Given the description of an element on the screen output the (x, y) to click on. 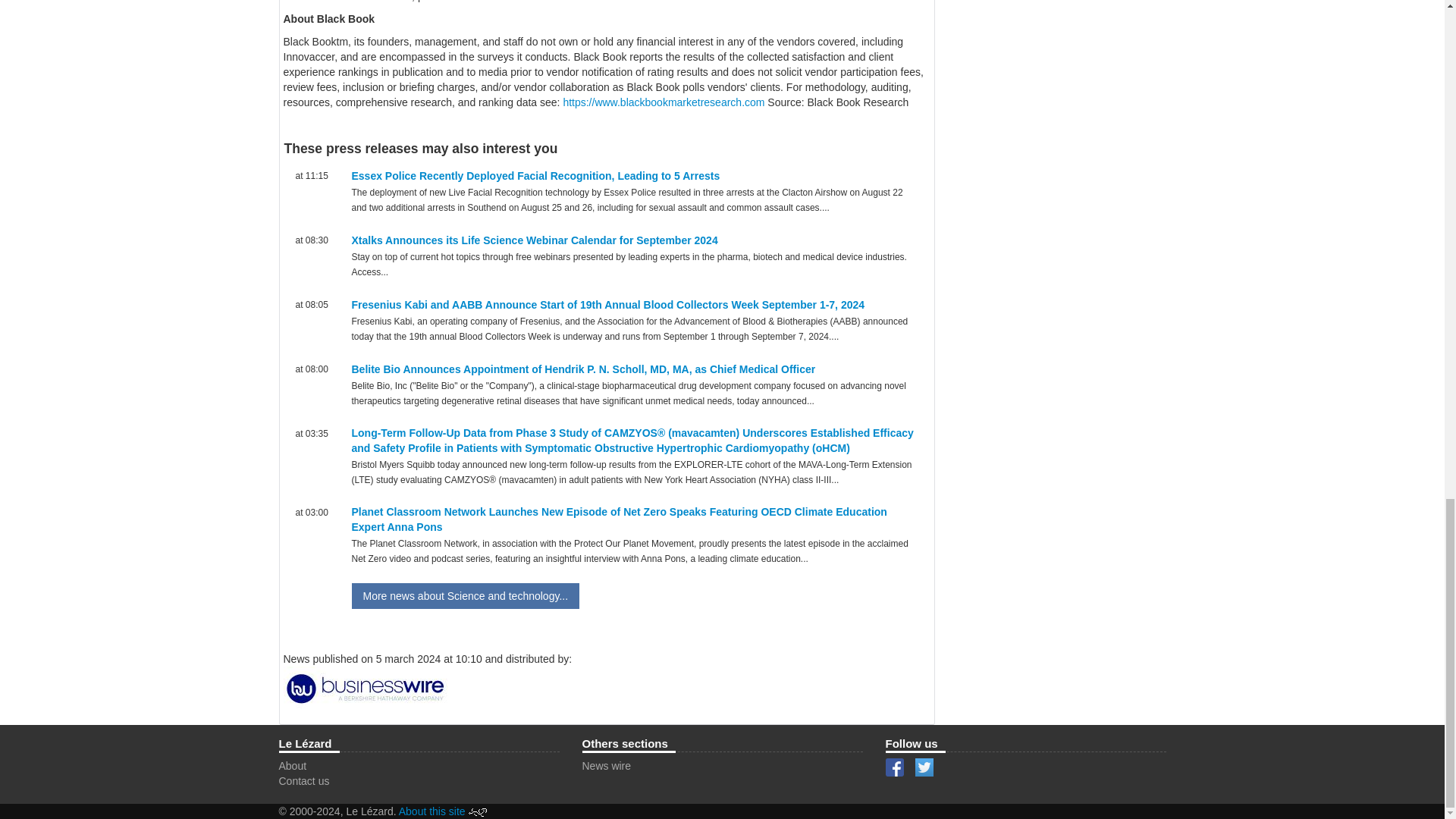
News wire (606, 766)
More news about Science and technology... (465, 596)
About (293, 766)
innovaccer.com (510, 1)
Contact us (304, 780)
About this site (431, 811)
